Given the description of an element on the screen output the (x, y) to click on. 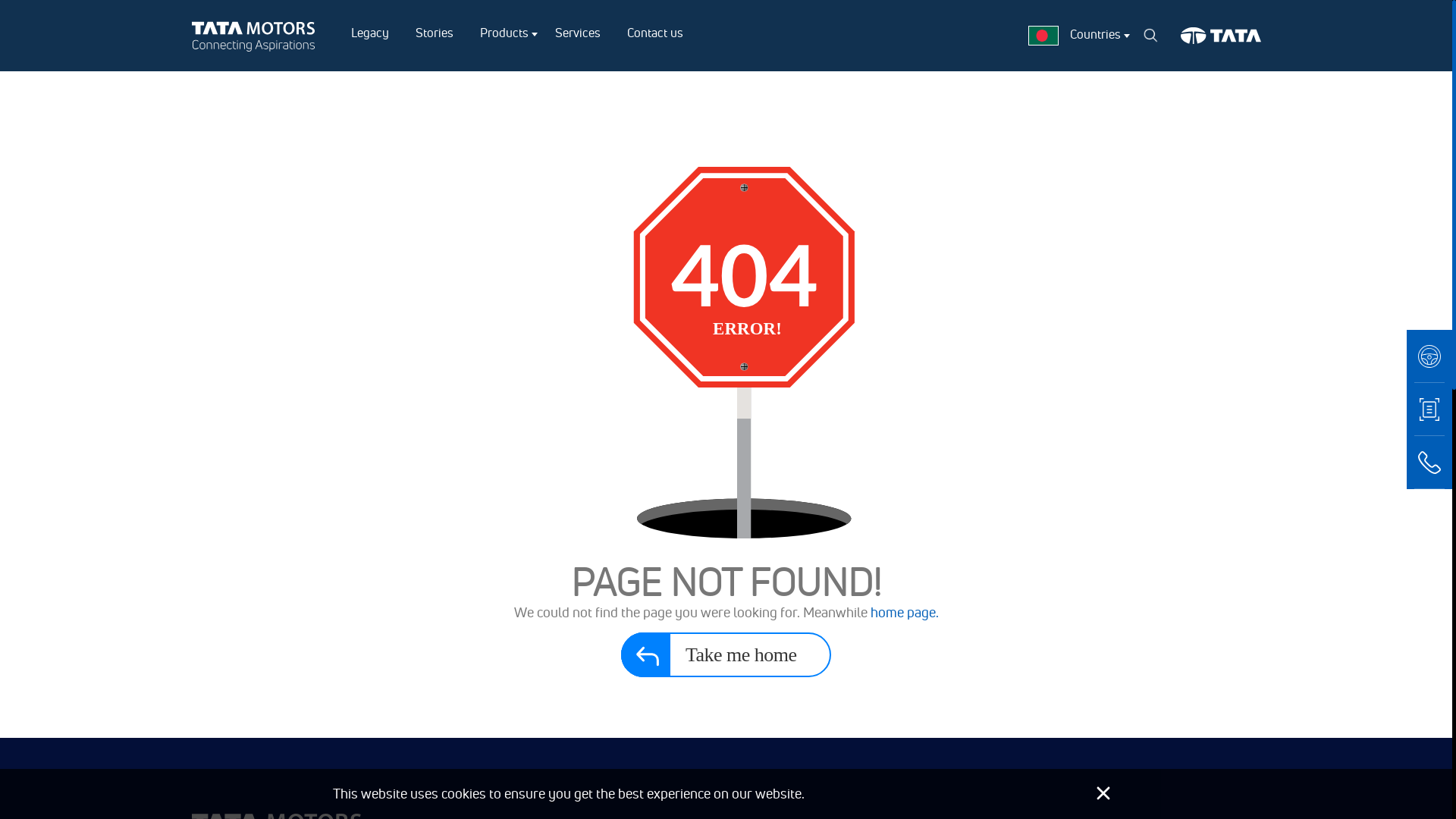
Tata Motor Connecting Aspirations Element type: hover (255, 35)
Products Element type: text (503, 32)
Legacy Element type: text (369, 32)
home page. Element type: text (904, 612)
Services Element type: text (577, 32)
Close Element type: hover (1102, 793)
Contact us Element type: text (654, 32)
Stories Element type: text (434, 32)
Countries Element type: text (1094, 33)
